Given the description of an element on the screen output the (x, y) to click on. 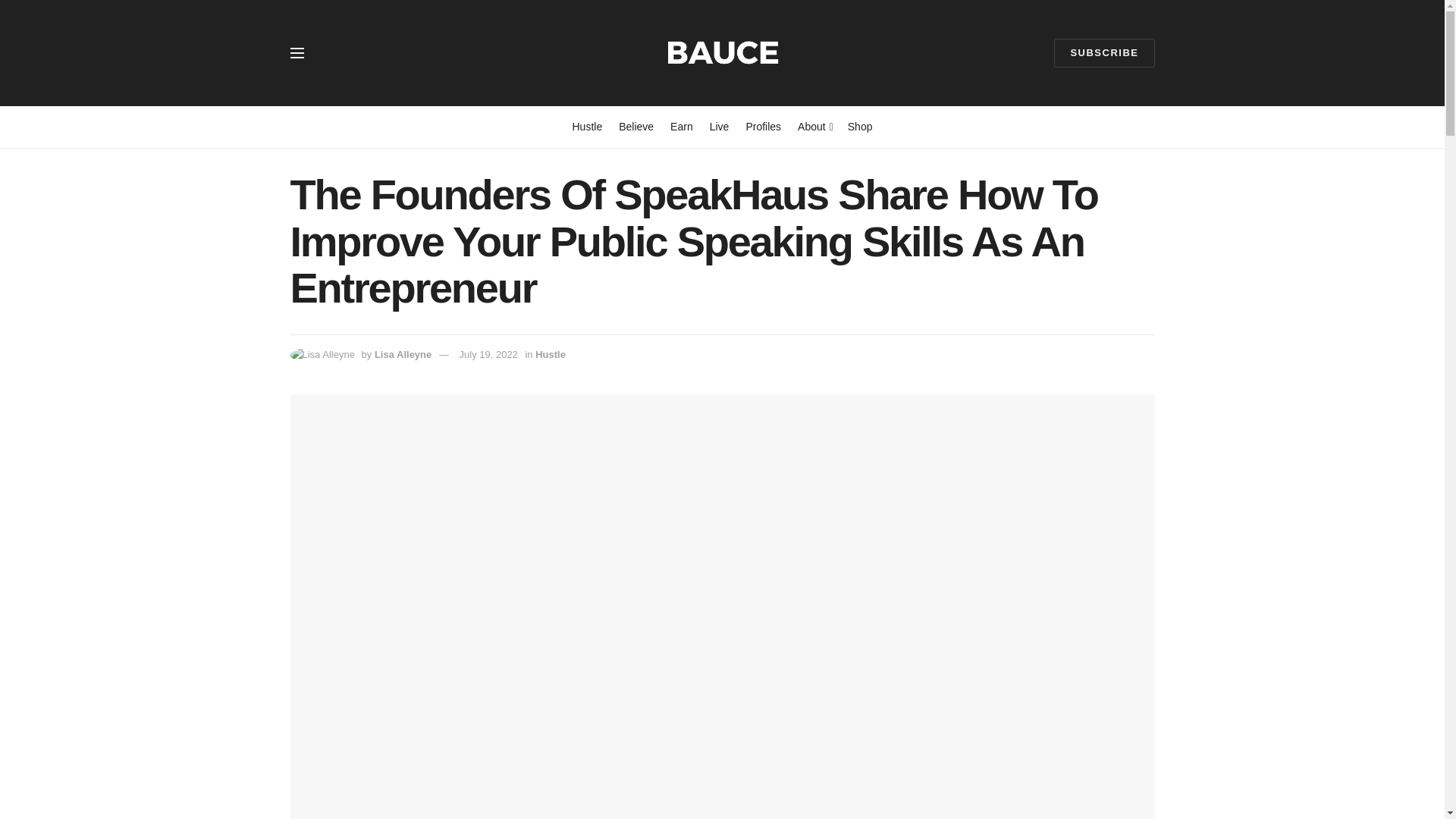
Earn (681, 126)
SUBSCRIBE (1104, 52)
Hustle (550, 354)
Believe (635, 126)
Lisa Alleyne (402, 354)
Profiles (762, 126)
Hustle (587, 126)
Shop (859, 126)
July 19, 2022 (489, 354)
About (814, 126)
